Given the description of an element on the screen output the (x, y) to click on. 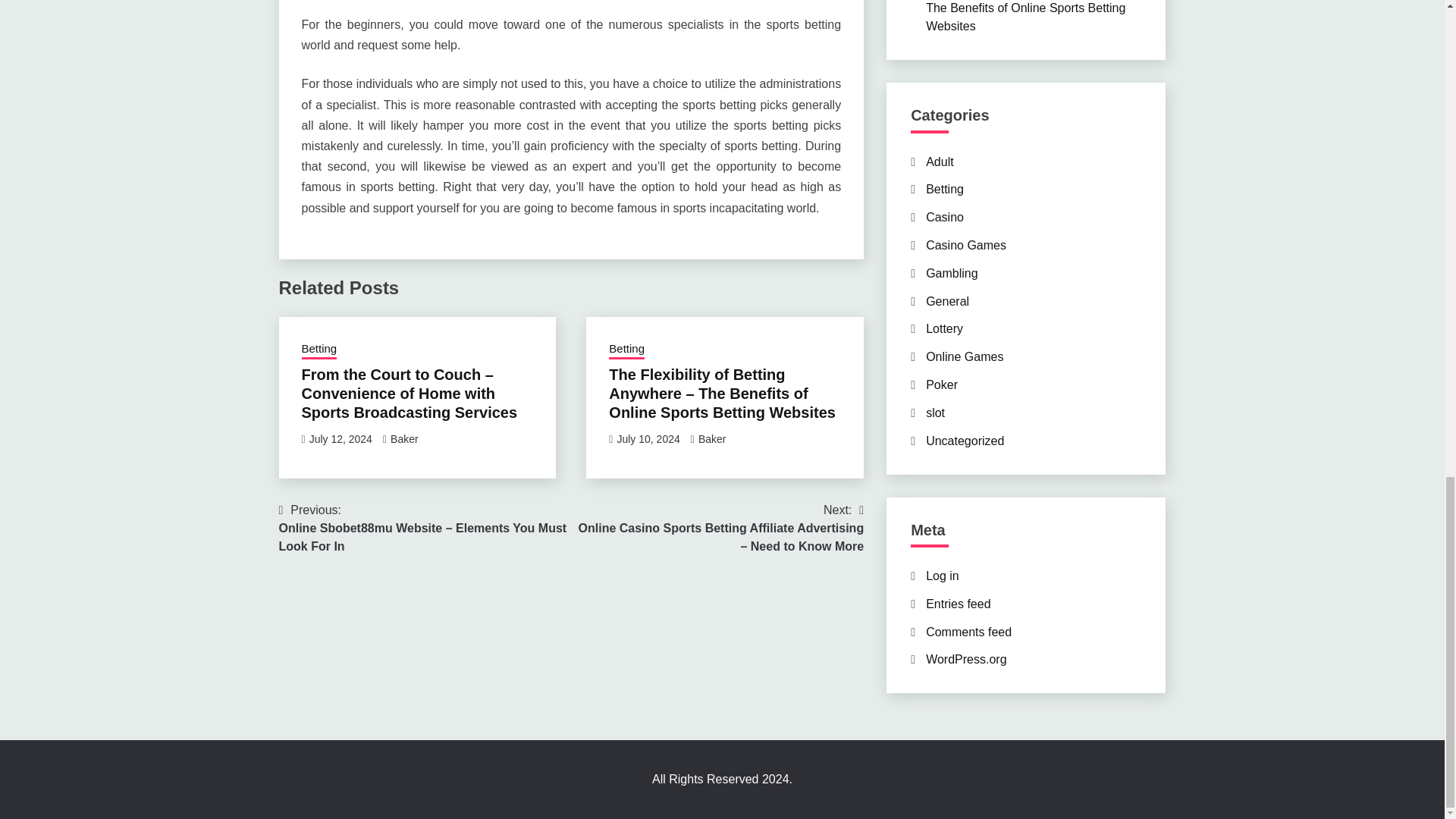
Casino Games (966, 245)
Baker (712, 439)
Baker (404, 439)
Betting (944, 188)
July 10, 2024 (647, 439)
Betting (319, 350)
Casino (944, 216)
Adult (939, 161)
July 12, 2024 (340, 439)
Betting (626, 350)
